Given the description of an element on the screen output the (x, y) to click on. 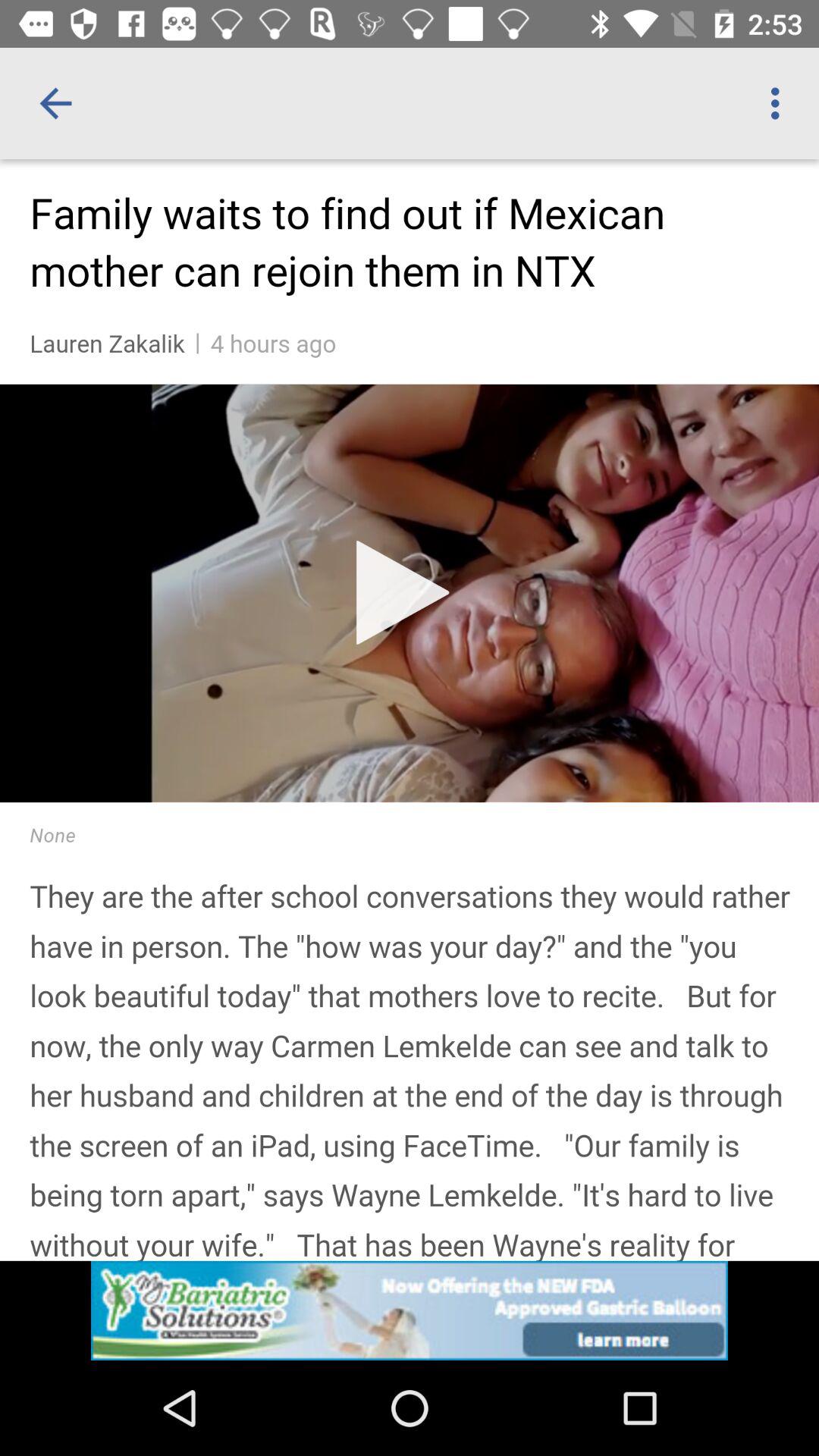
read a news (409, 759)
